Given the description of an element on the screen output the (x, y) to click on. 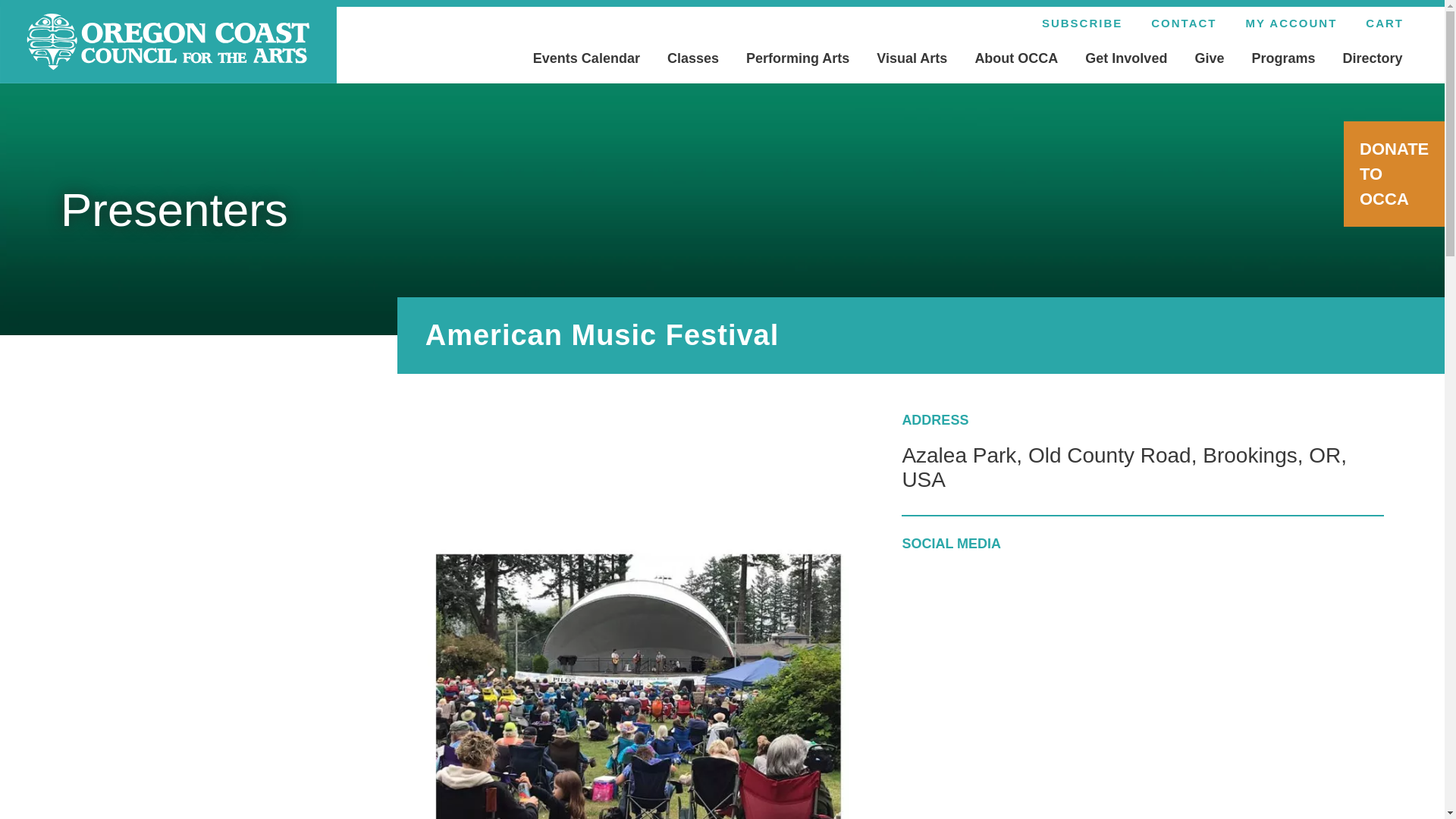
About OCCA (1015, 60)
CART (1384, 22)
Directory (1371, 60)
Events Calendar (586, 60)
Programs (1282, 60)
CONTACT (1183, 22)
Performing Arts (797, 60)
Classes (692, 60)
Give (1208, 60)
MY ACCOUNT (1290, 22)
